Given the description of an element on the screen output the (x, y) to click on. 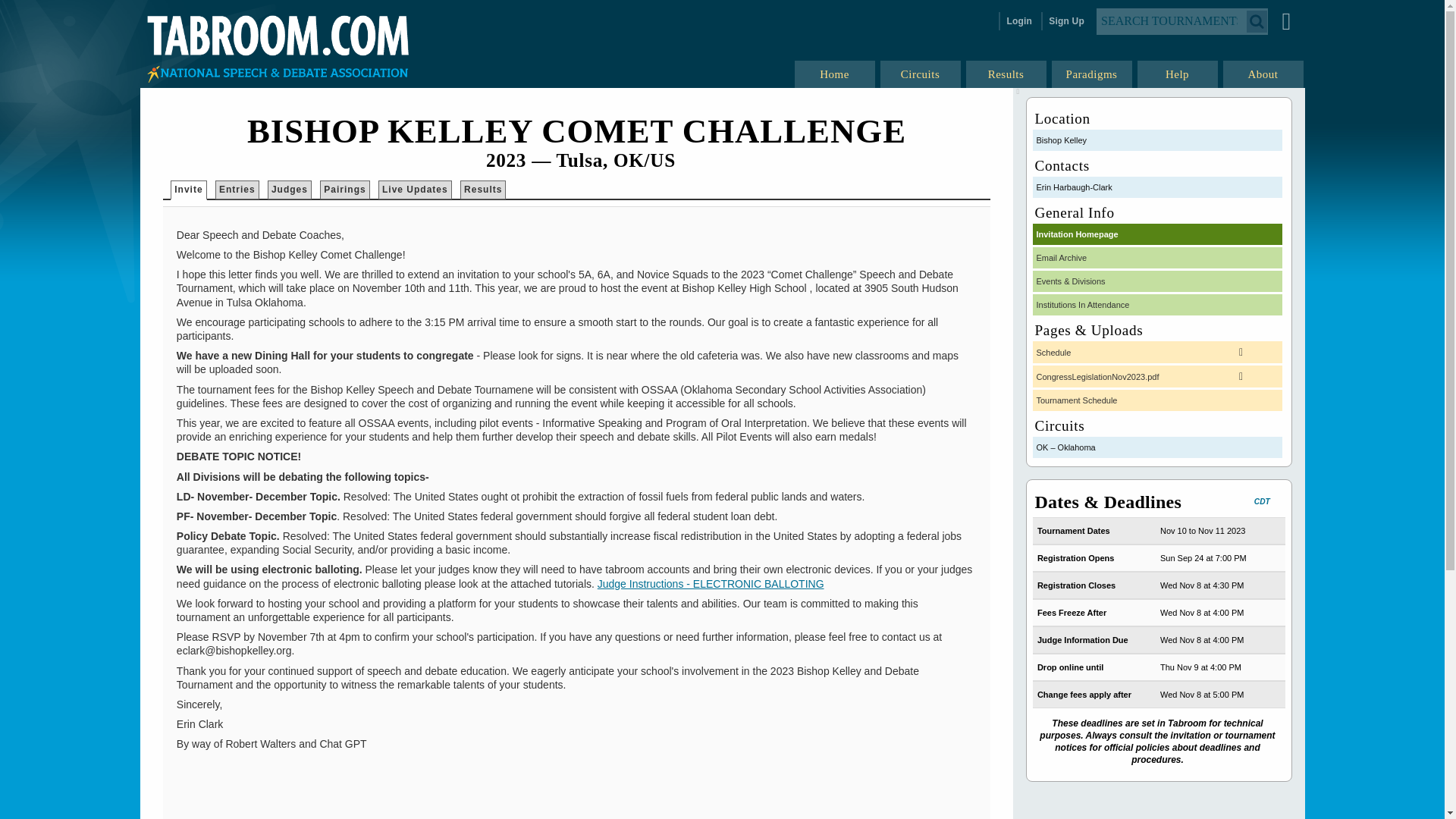
Results (483, 189)
Judge Instructions - ELECTRONIC BALLOTING (710, 583)
Search for tournaments (1182, 20)
Paradigms (1091, 73)
Bishop Kelley (1157, 139)
Invitation Homepage (1157, 233)
Tournament Schedule (1157, 400)
Erin Harbaugh-Clark (1157, 187)
Tabroom Help (1286, 20)
Sign Up (1065, 21)
Oklahoma (1157, 446)
Help (1178, 73)
Pairings (344, 189)
Login (1018, 21)
Circuits (919, 73)
